Given the description of an element on the screen output the (x, y) to click on. 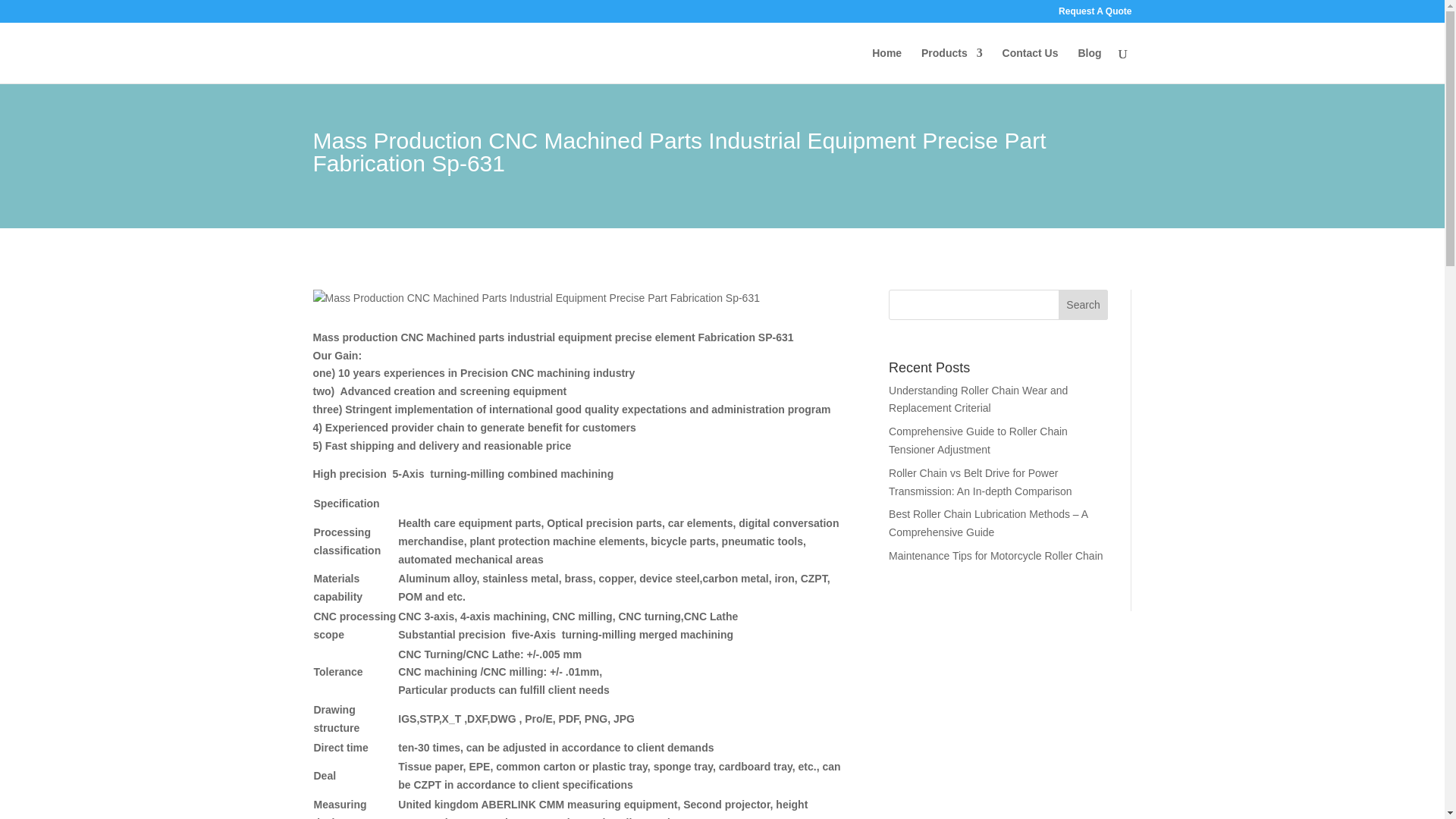
Search (1083, 304)
Contact Us (1030, 65)
Comprehensive Guide to Roller Chain Tensioner Adjustment (977, 440)
Maintenance Tips for Motorcycle Roller Chain (995, 555)
Products (951, 65)
Request A Quote (1094, 14)
Search (1083, 304)
Understanding Roller Chain Wear and Replacement Criterial (977, 399)
